Given the description of an element on the screen output the (x, y) to click on. 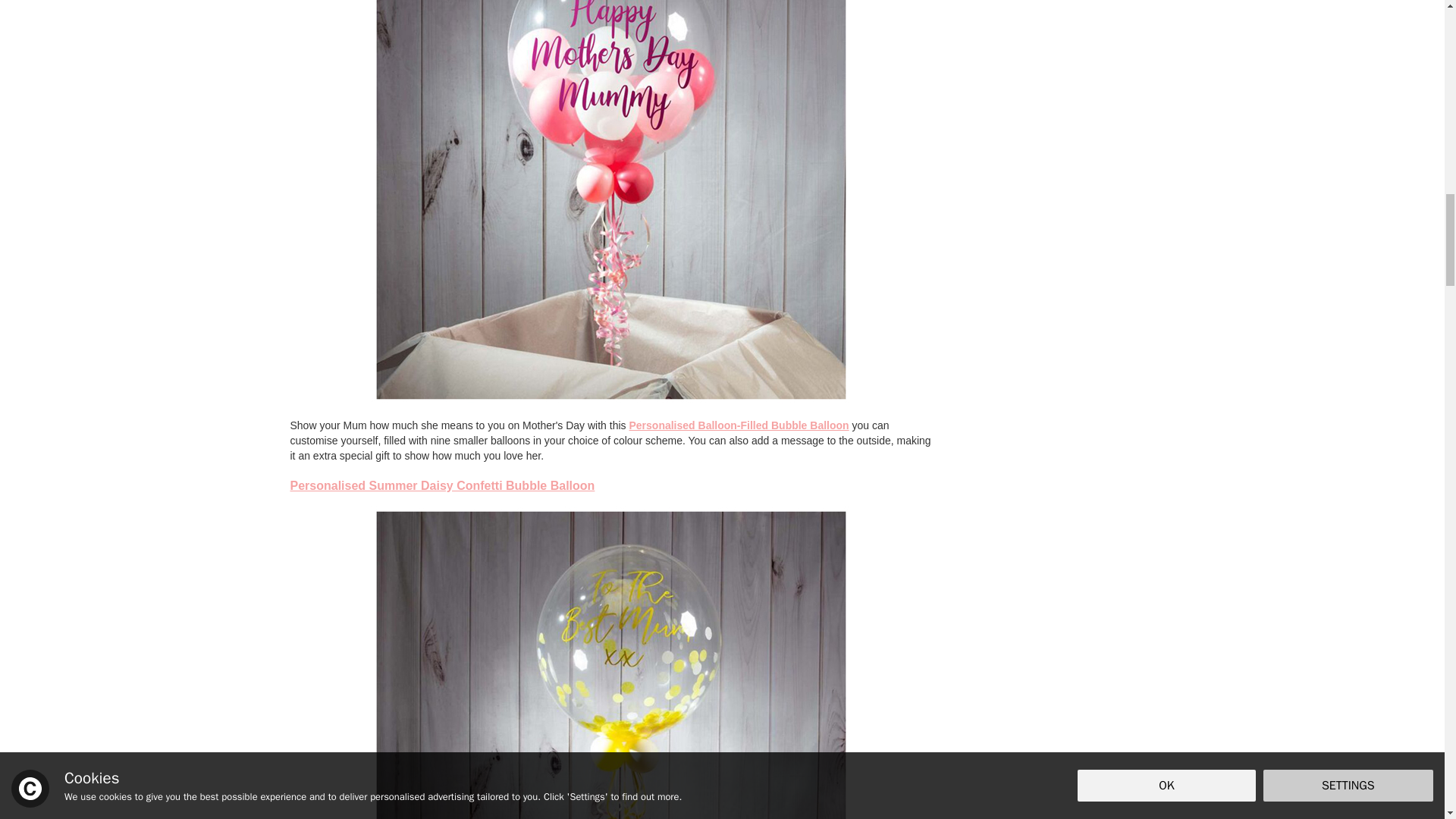
Personalised Balloon-Filled Bubble Balloon (738, 425)
Personalised Summer Daisy Confetti Bubble Balloon (441, 485)
